Given the description of an element on the screen output the (x, y) to click on. 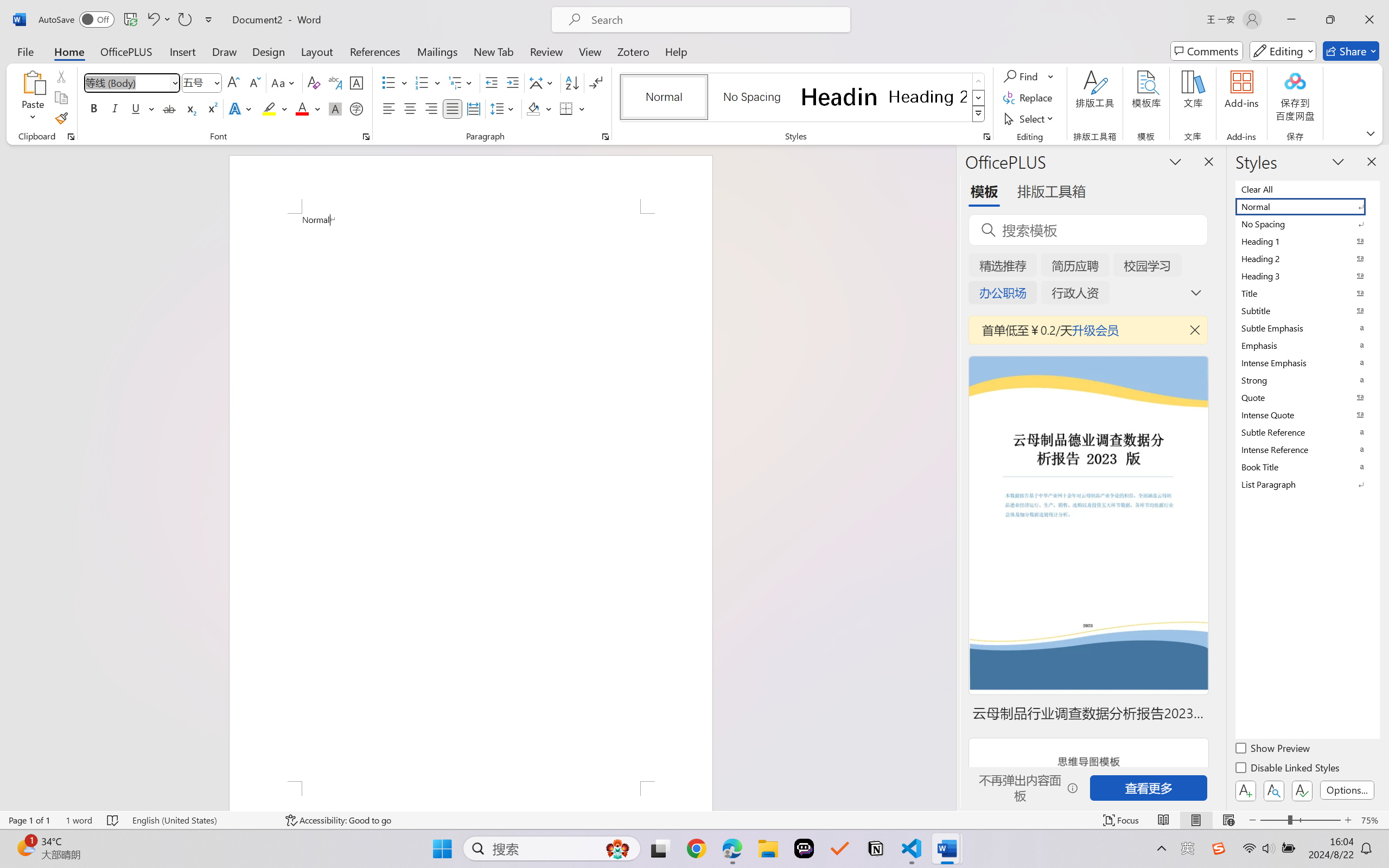
Review (546, 51)
Row Down (978, 97)
AutomationID: DynamicSearchBoxGleamImage (617, 848)
OfficePLUS (126, 51)
Heading 3 (1306, 275)
Strikethrough (169, 108)
References (375, 51)
Shading RGB(0, 0, 0) (533, 108)
Undo Apply Quick Style (152, 19)
New Tab (493, 51)
Layout (316, 51)
Font... (365, 136)
Italic (115, 108)
